Given the description of an element on the screen output the (x, y) to click on. 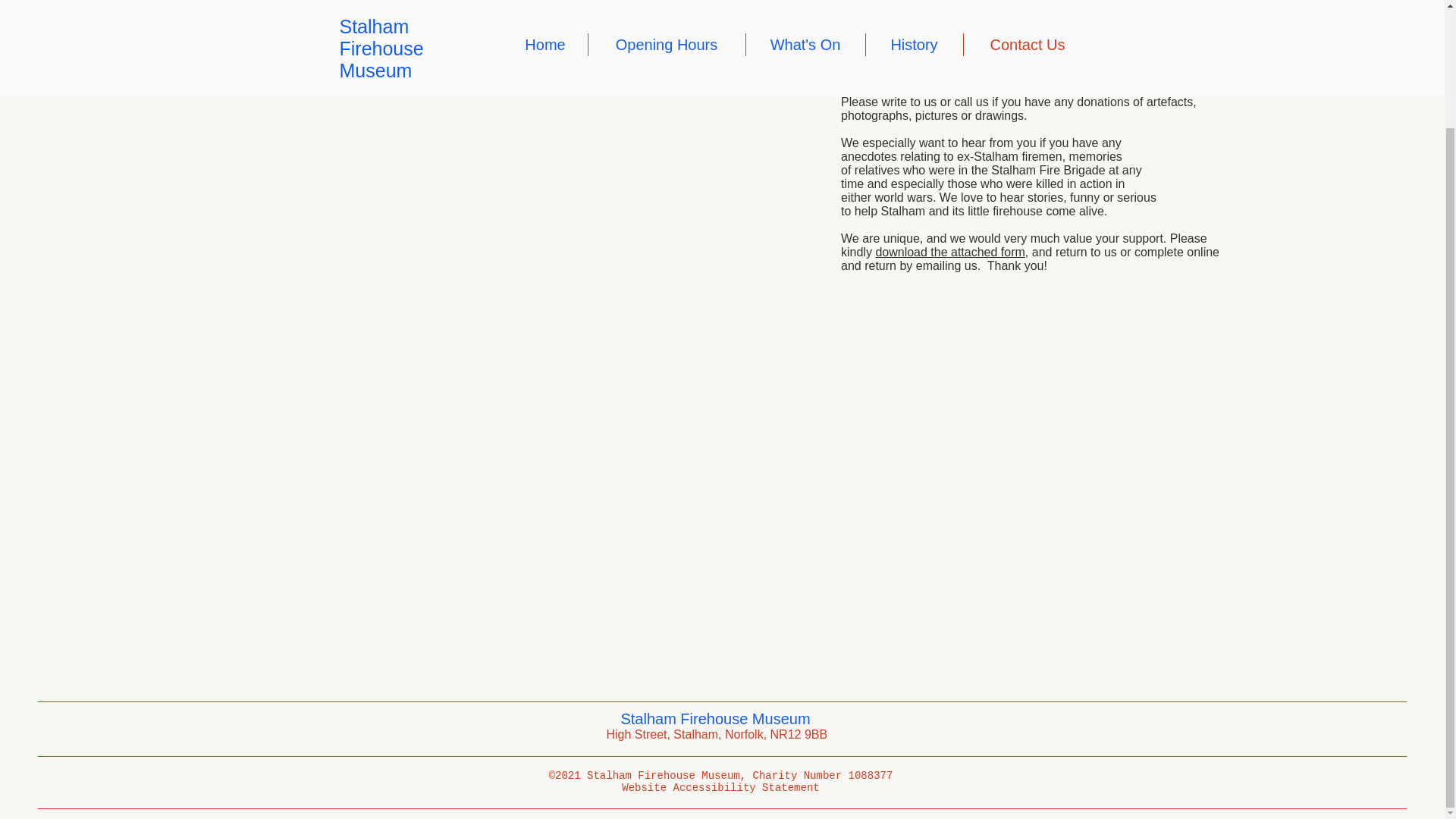
download the attached form (950, 251)
Website Accessibility Statement (719, 787)
